Given the description of an element on the screen output the (x, y) to click on. 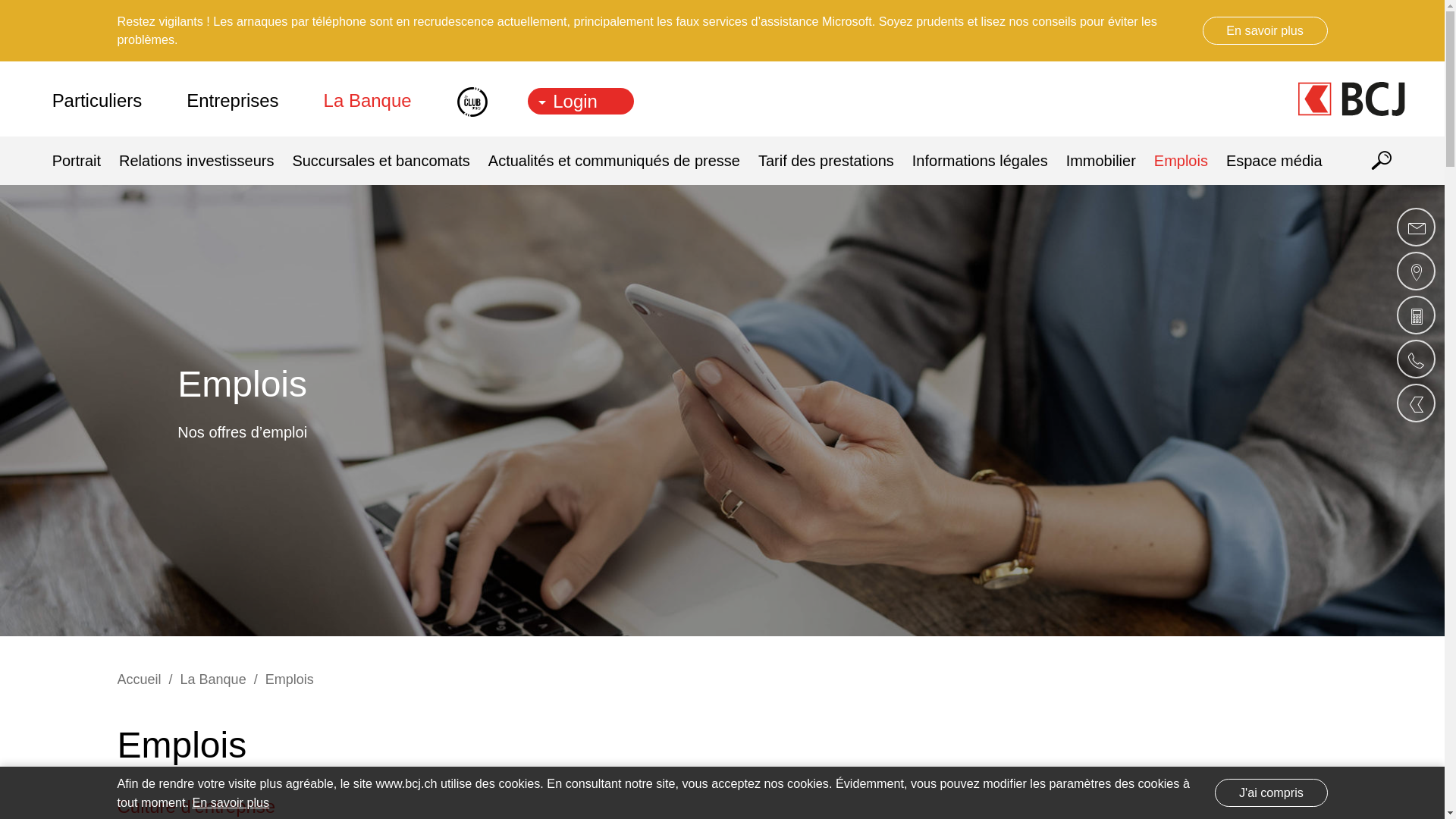
Tarif des prestations Element type: text (826, 160)
Accueil Element type: text (138, 679)
Immobilier Element type: text (1101, 160)
Succursales et bancomats Element type: text (380, 160)
Relations investisseurs Element type: text (195, 160)
Particuliers Element type: text (107, 98)
La Banque Element type: text (367, 98)
J'ai compris Element type: text (1270, 792)
En savoir plus Element type: text (1264, 29)
Afficher la recherche Element type: text (1381, 162)
La Banque Element type: text (213, 679)
Portrait Element type: text (80, 160)
En savoir plus Element type: text (230, 802)
Emplois Element type: text (289, 679)
Entreprises Element type: text (232, 98)
Login Element type: text (580, 101)
Emplois Element type: text (1181, 160)
